Given the description of an element on the screen output the (x, y) to click on. 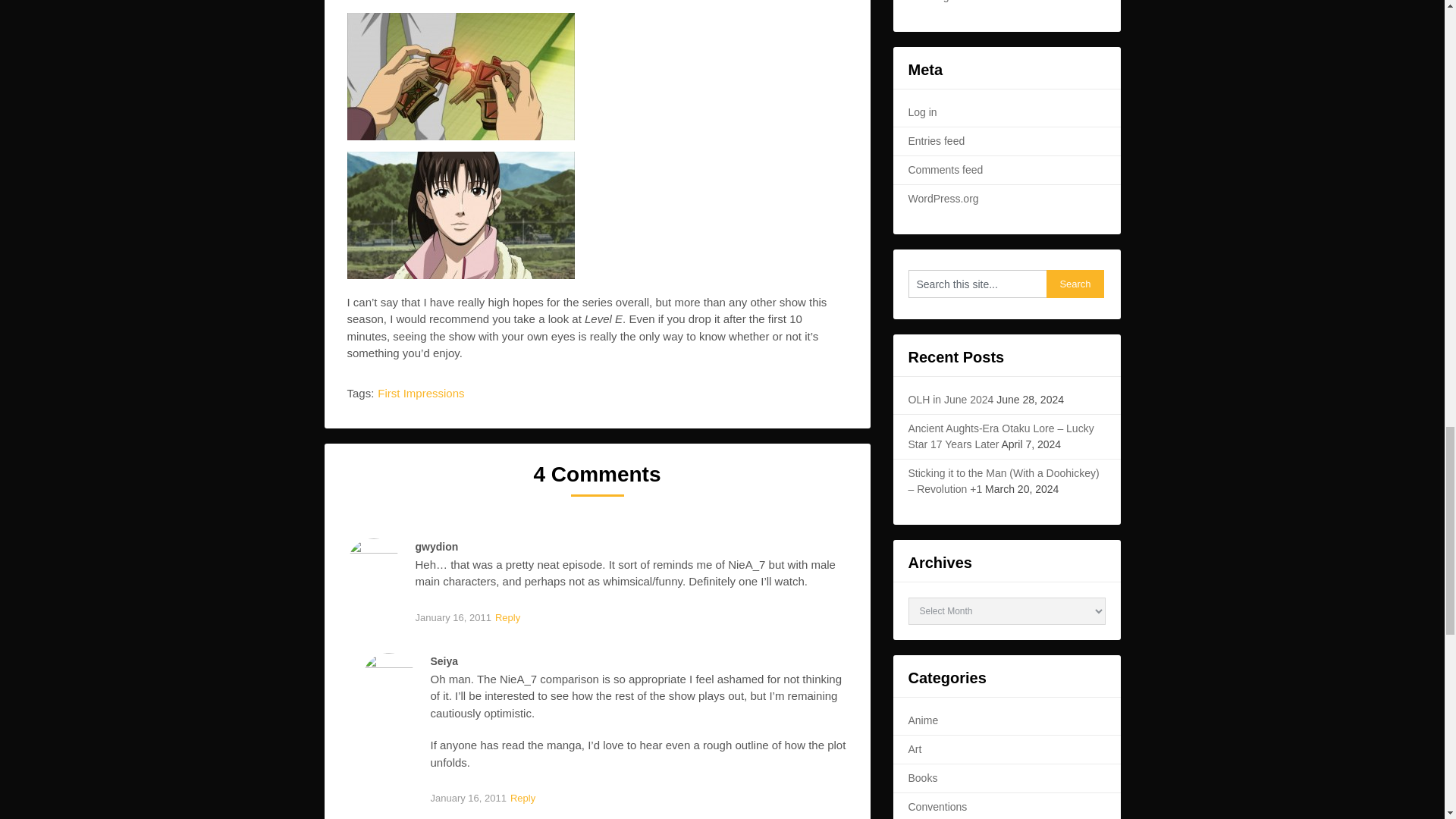
Search this site... (977, 284)
First Impressions (420, 392)
Reply (522, 798)
Search (1075, 284)
Reply (508, 618)
The dangers of non-gamers given a controller (461, 76)
Honestly, even I'm not sure why I picked this screen (461, 215)
